Given the description of an element on the screen output the (x, y) to click on. 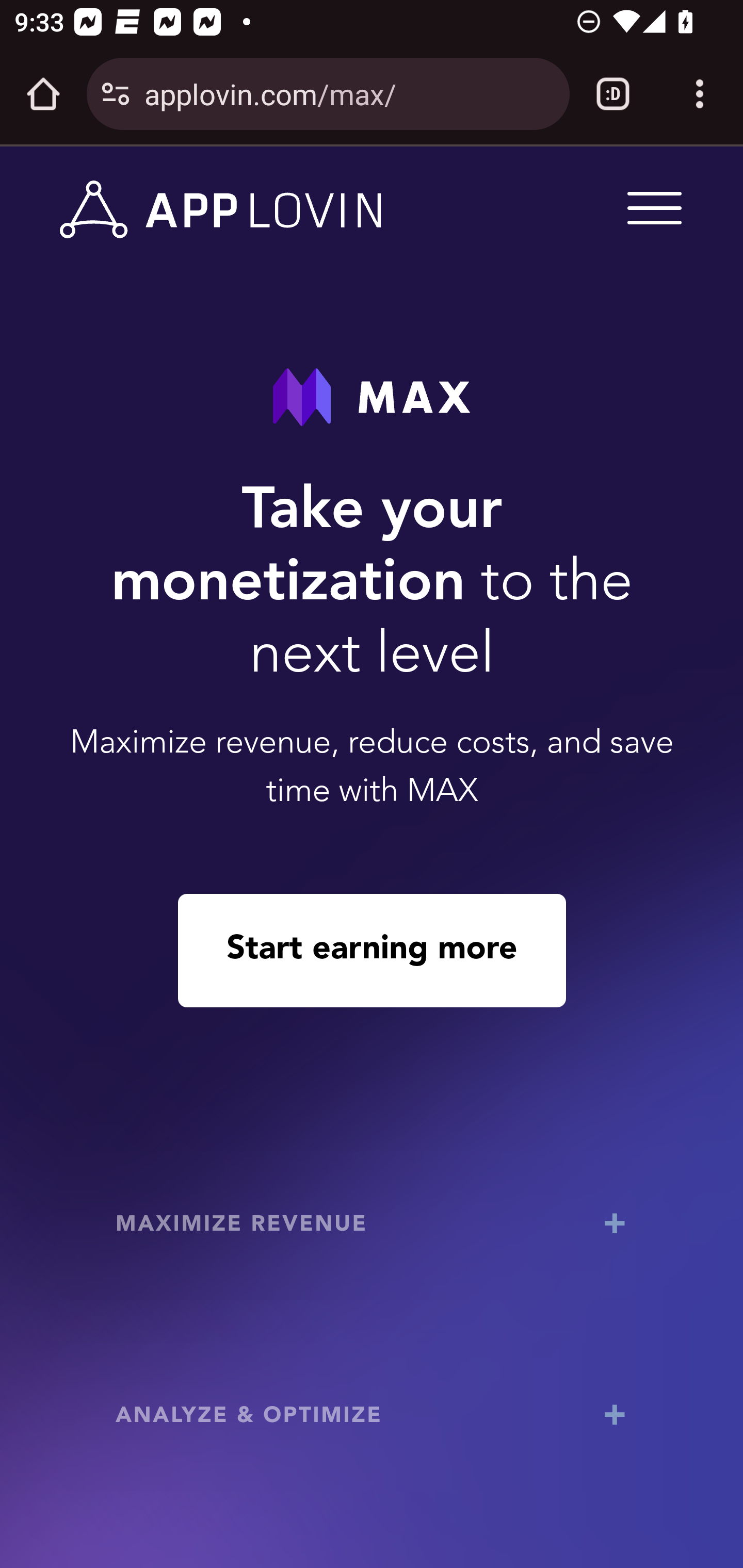
Open the home page (43, 93)
Connection is secure (115, 93)
Switch or close tabs (612, 93)
Customize and control Google Chrome (699, 93)
applovin.com/max/ (349, 92)
Menu Trigger (650, 207)
www.applovin (220, 209)
Start earning more (371, 950)
